Given the description of an element on the screen output the (x, y) to click on. 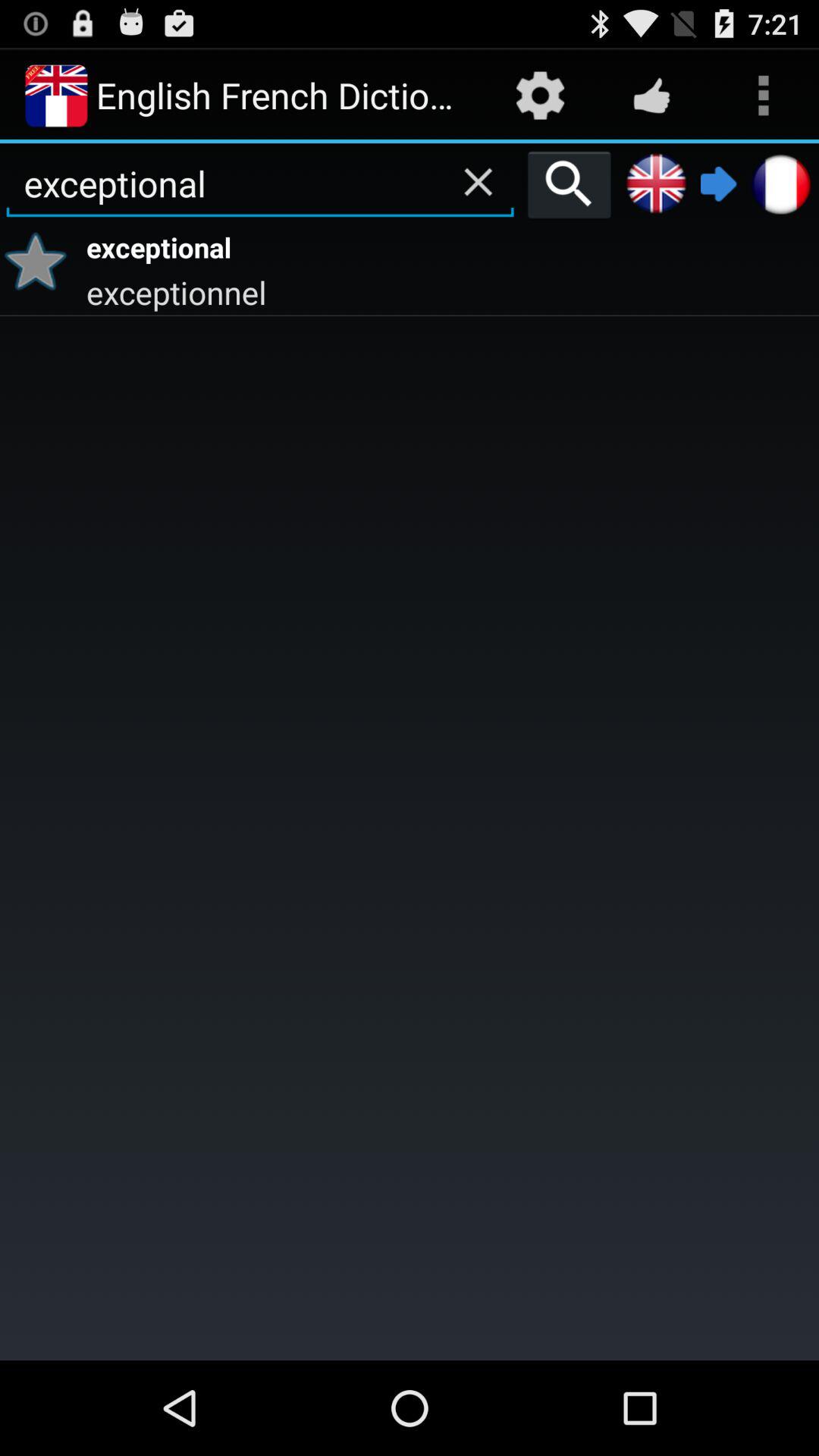
launch the app next to exceptional app (41, 260)
